Given the description of an element on the screen output the (x, y) to click on. 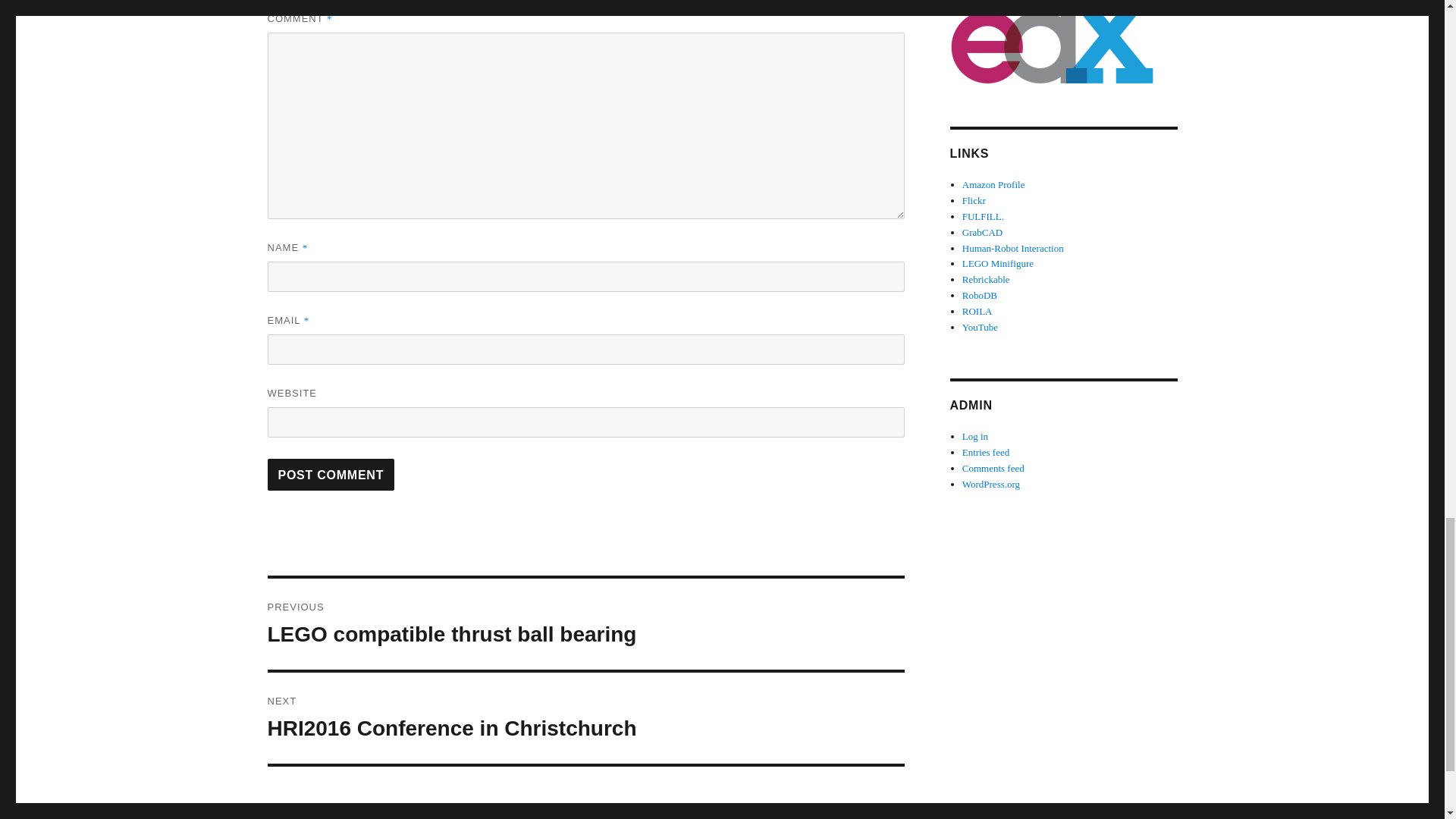
Post Comment (330, 474)
A database of robots (979, 295)
My Rebrickable Profile (986, 279)
The Unofficial LEGO Minifigure Catalog (997, 263)
The Robot Interaction Language (977, 310)
Post Comment (585, 717)
My GrabCAD Profile (330, 474)
My Amazon Author Profile (585, 623)
My YouTube Channel (982, 232)
Complete the illustrations and unwind your mind. (993, 184)
The home of the HRI book and the podcast.  (979, 326)
My Flickr Stream (983, 215)
